Given the description of an element on the screen output the (x, y) to click on. 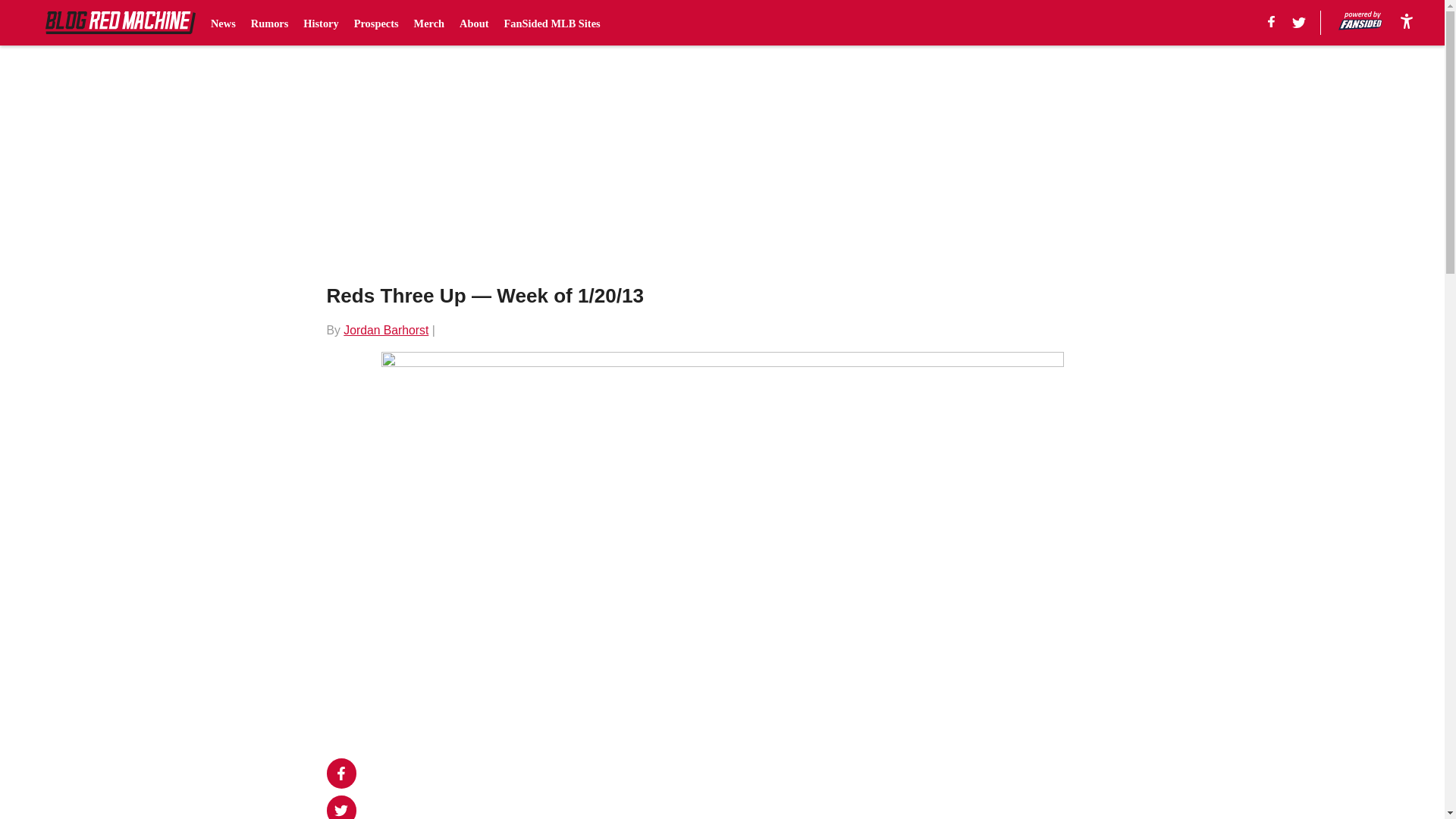
History (319, 23)
Prospects (375, 23)
Merch (429, 23)
Rumors (269, 23)
FanSided MLB Sites (551, 23)
News (223, 23)
About (473, 23)
Jordan Barhorst (385, 329)
